Given the description of an element on the screen output the (x, y) to click on. 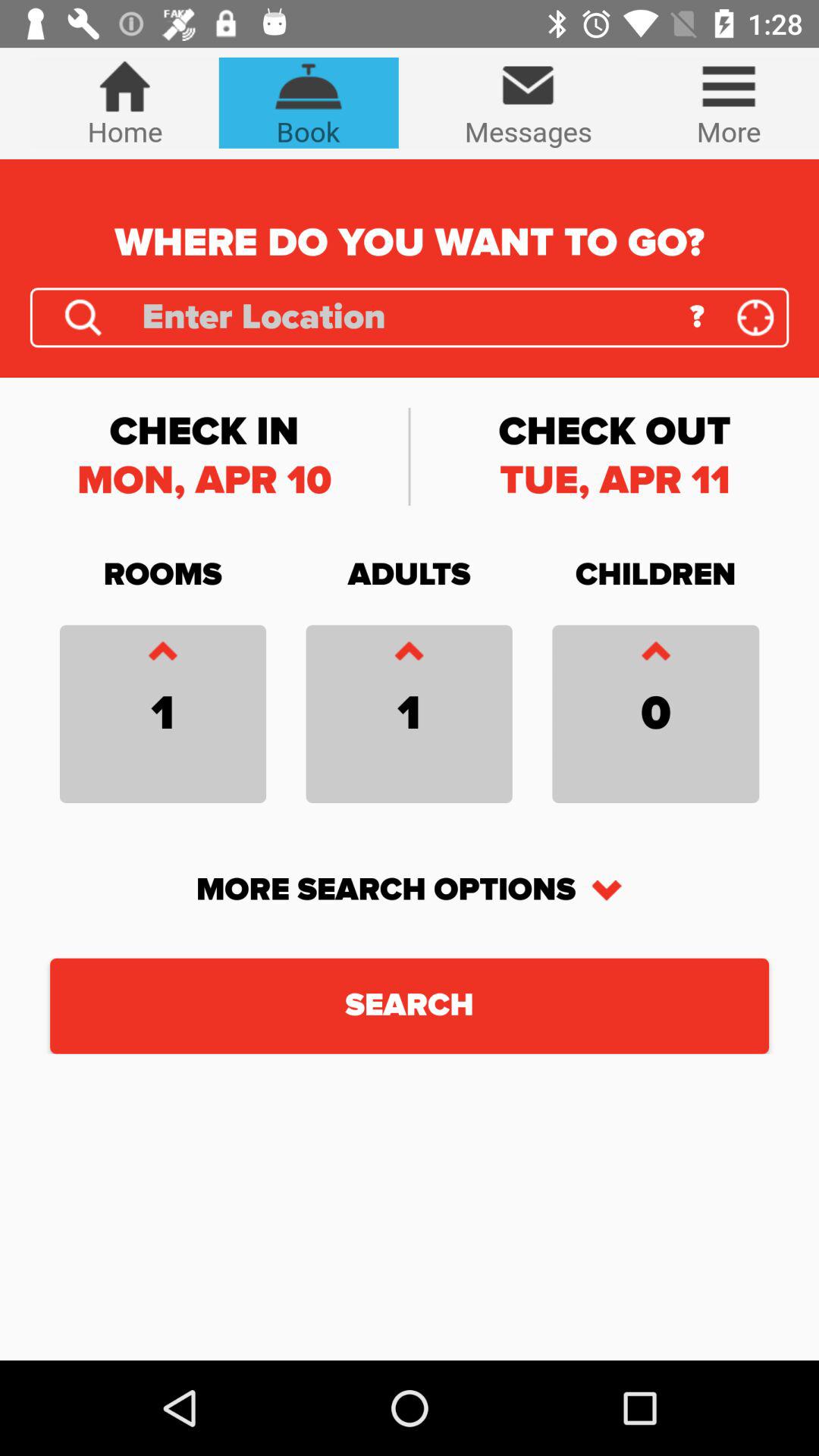
jump to ?  icon (696, 317)
